Given the description of an element on the screen output the (x, y) to click on. 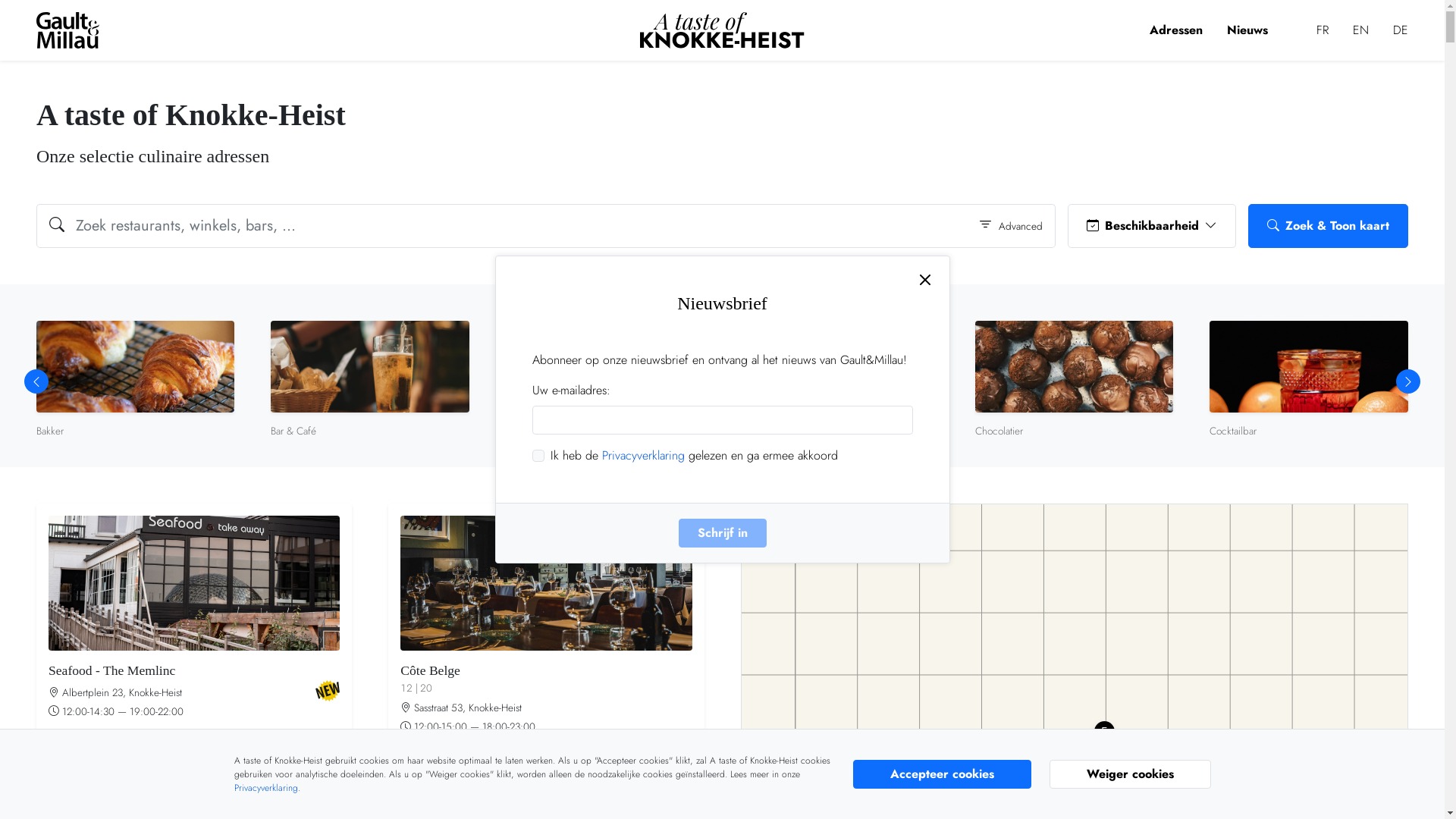
Adressen Element type: text (1175, 30)
Advanced Element type: text (1009, 225)
FR Element type: text (1322, 30)
Accepteer cookies Element type: text (941, 773)
Privacyverklaring Element type: text (643, 455)
Nieuws Element type: text (1247, 30)
DE Element type: text (1400, 30)
Zoek & Toon kaart Element type: text (1328, 225)
Weiger cookies Element type: text (1130, 773)
Schrijf in Element type: text (721, 532)
EN Element type: text (1360, 30)
Beschikbaarheid Element type: text (1151, 225)
Privacyverklaring Element type: text (265, 787)
